Given the description of an element on the screen output the (x, y) to click on. 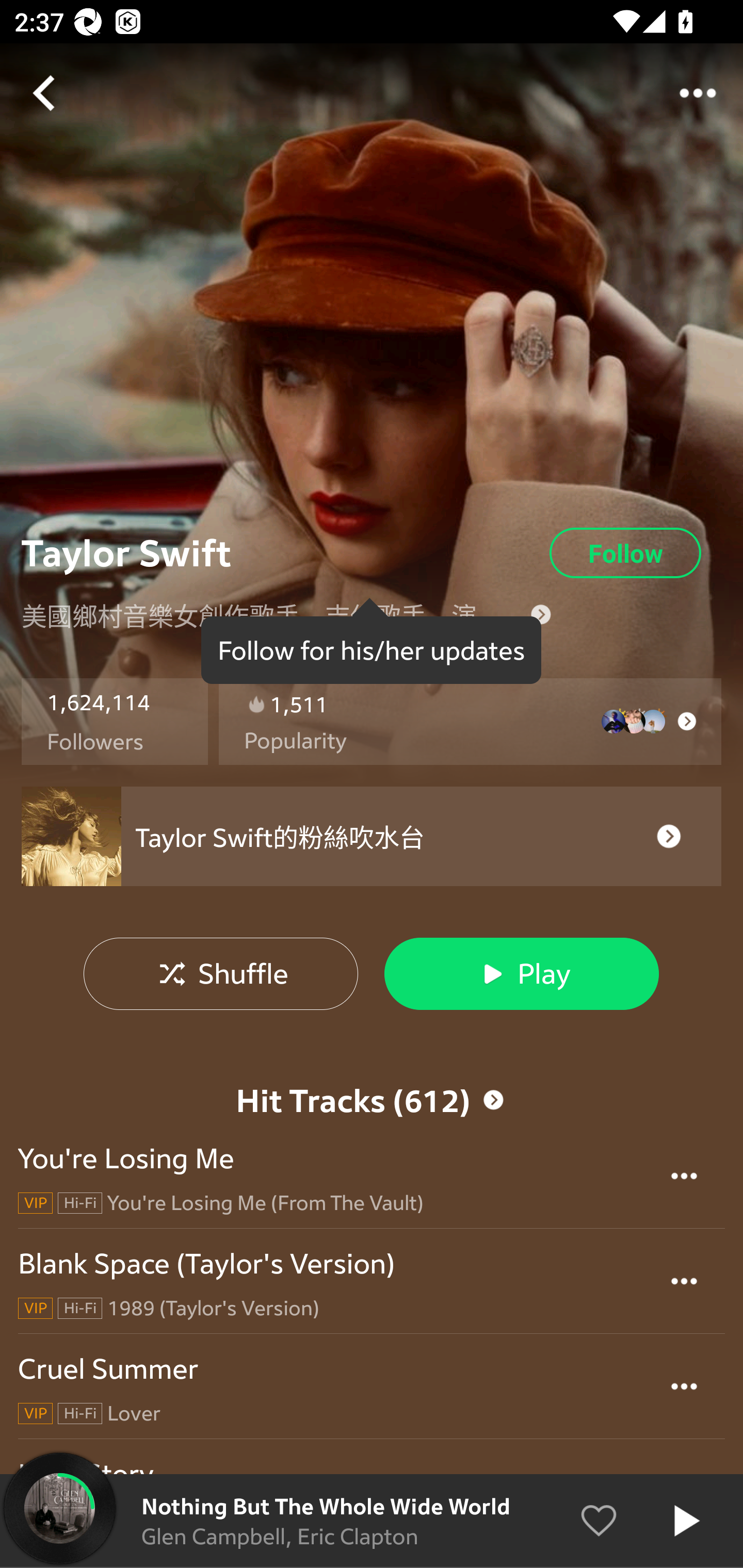
Follow (625, 553)
1,511 Popularity (469, 721)
Popularity (294, 740)
Taylor Swift的粉絲吹水台 (371, 836)
Shuffle (220, 973)
Play (521, 973)
Hit Tracks (612) (371, 1099)
Cruel Summer VIP Hi-Fi Lover (371, 1386)
